Given the description of an element on the screen output the (x, y) to click on. 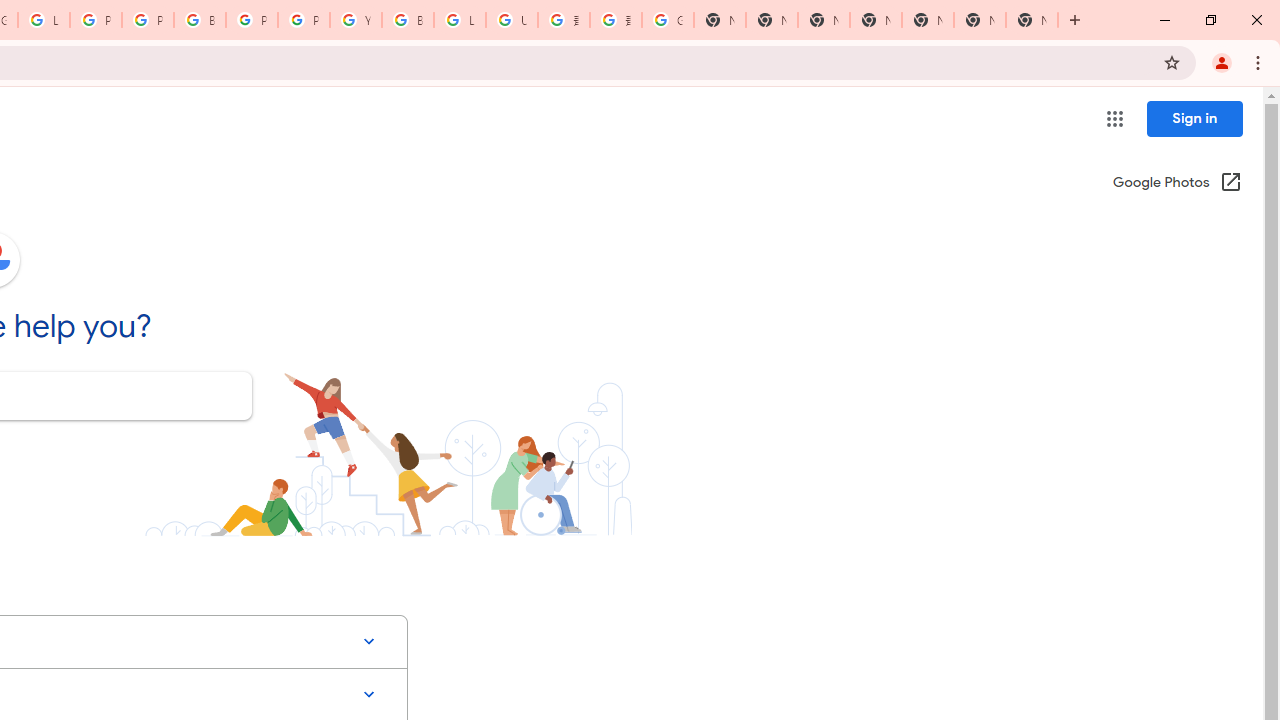
Privacy Help Center - Policies Help (147, 20)
Google Images (667, 20)
Privacy Help Center - Policies Help (95, 20)
New Tab (1032, 20)
